Given the description of an element on the screen output the (x, y) to click on. 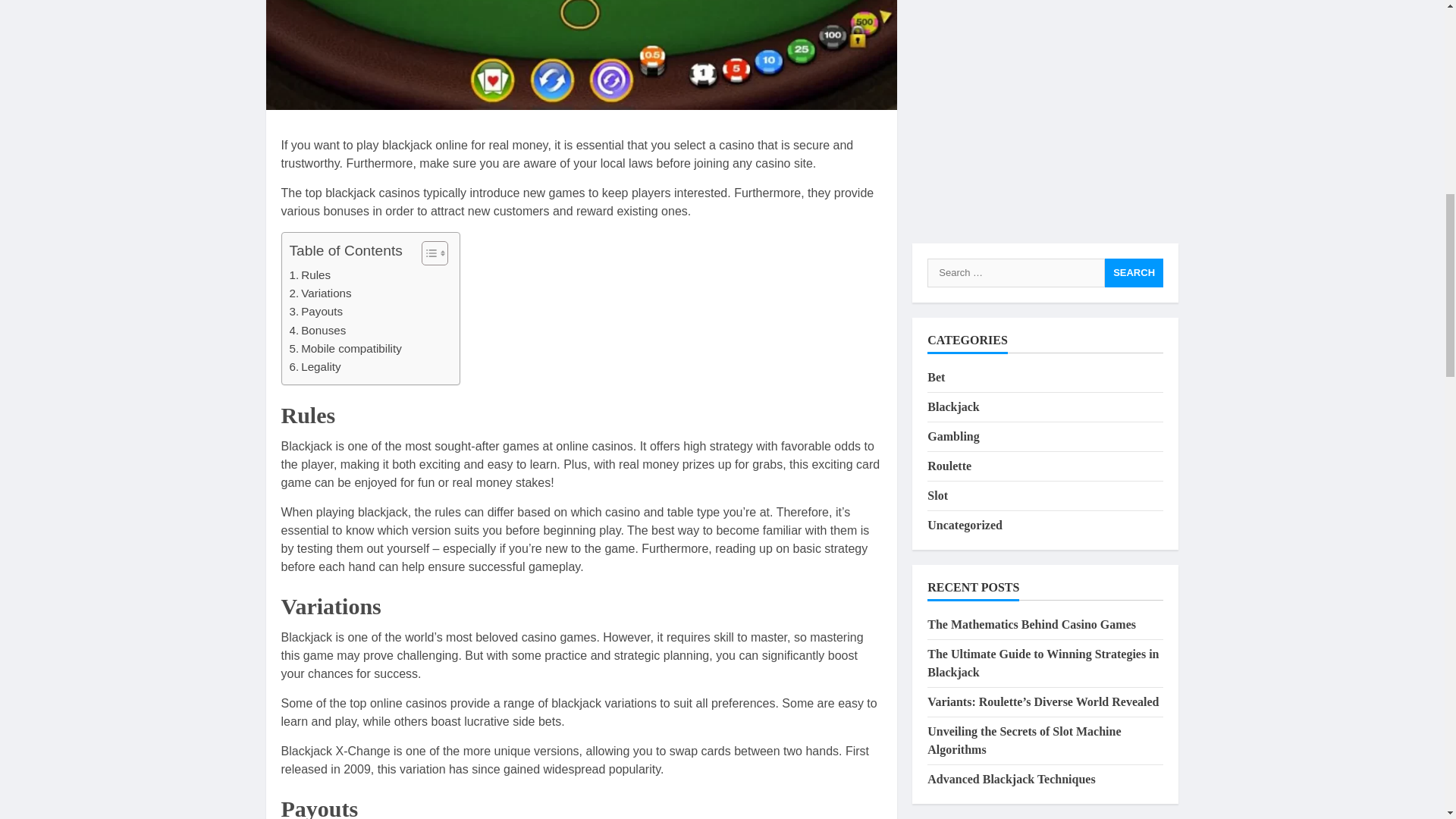
Legality (314, 366)
Legality (314, 366)
Rules (310, 275)
Bonuses (317, 330)
Mobile compatibility (345, 348)
Rules (310, 275)
Payouts (316, 311)
Bonuses (317, 330)
Variations (320, 293)
Mobile compatibility (345, 348)
Payouts (316, 311)
Variations (320, 293)
